Given the description of an element on the screen output the (x, y) to click on. 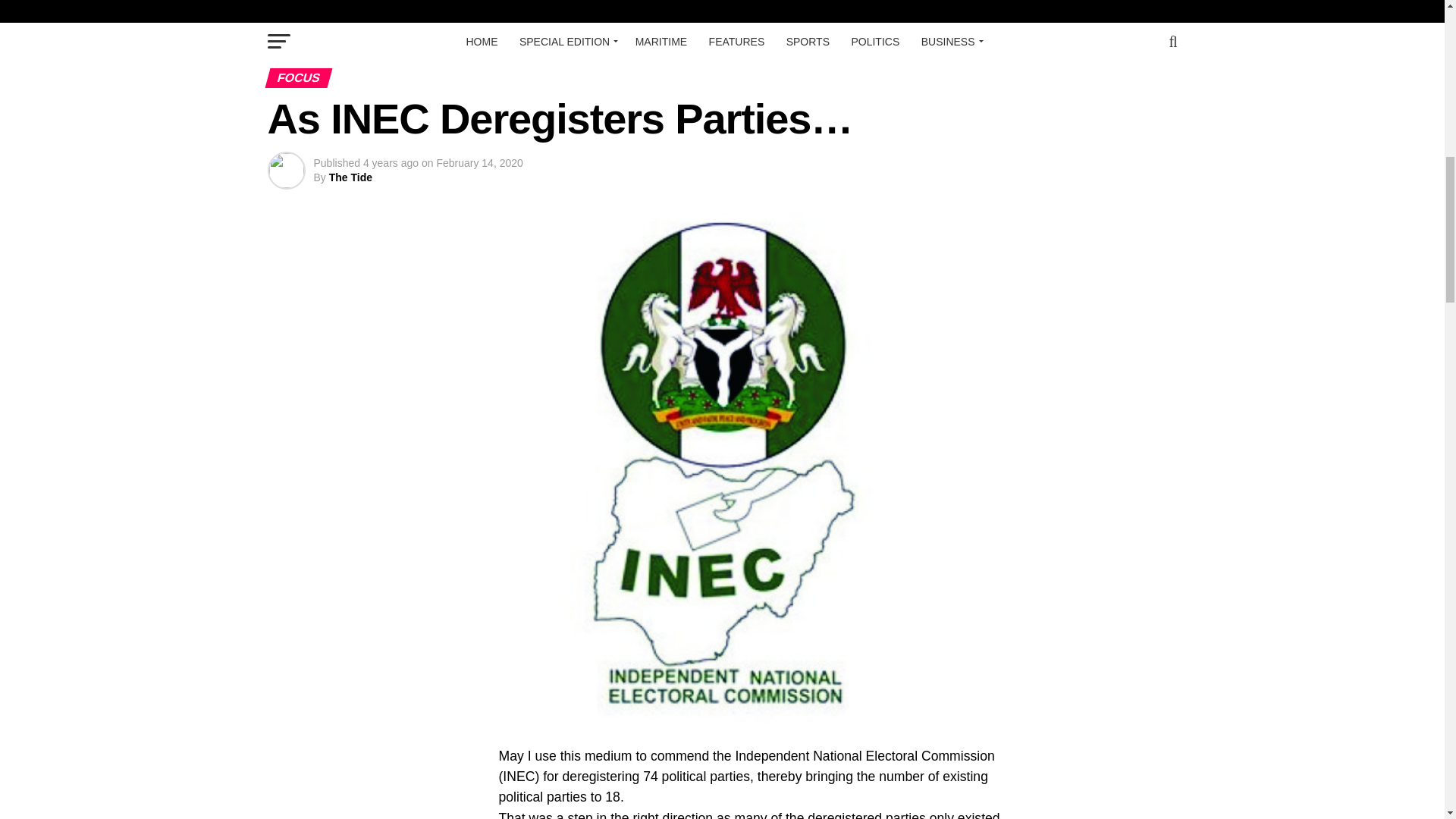
HOME (481, 41)
Posts by The Tide (350, 177)
SPECIAL EDITION (567, 41)
MARITIME (660, 41)
